Given the description of an element on the screen output the (x, y) to click on. 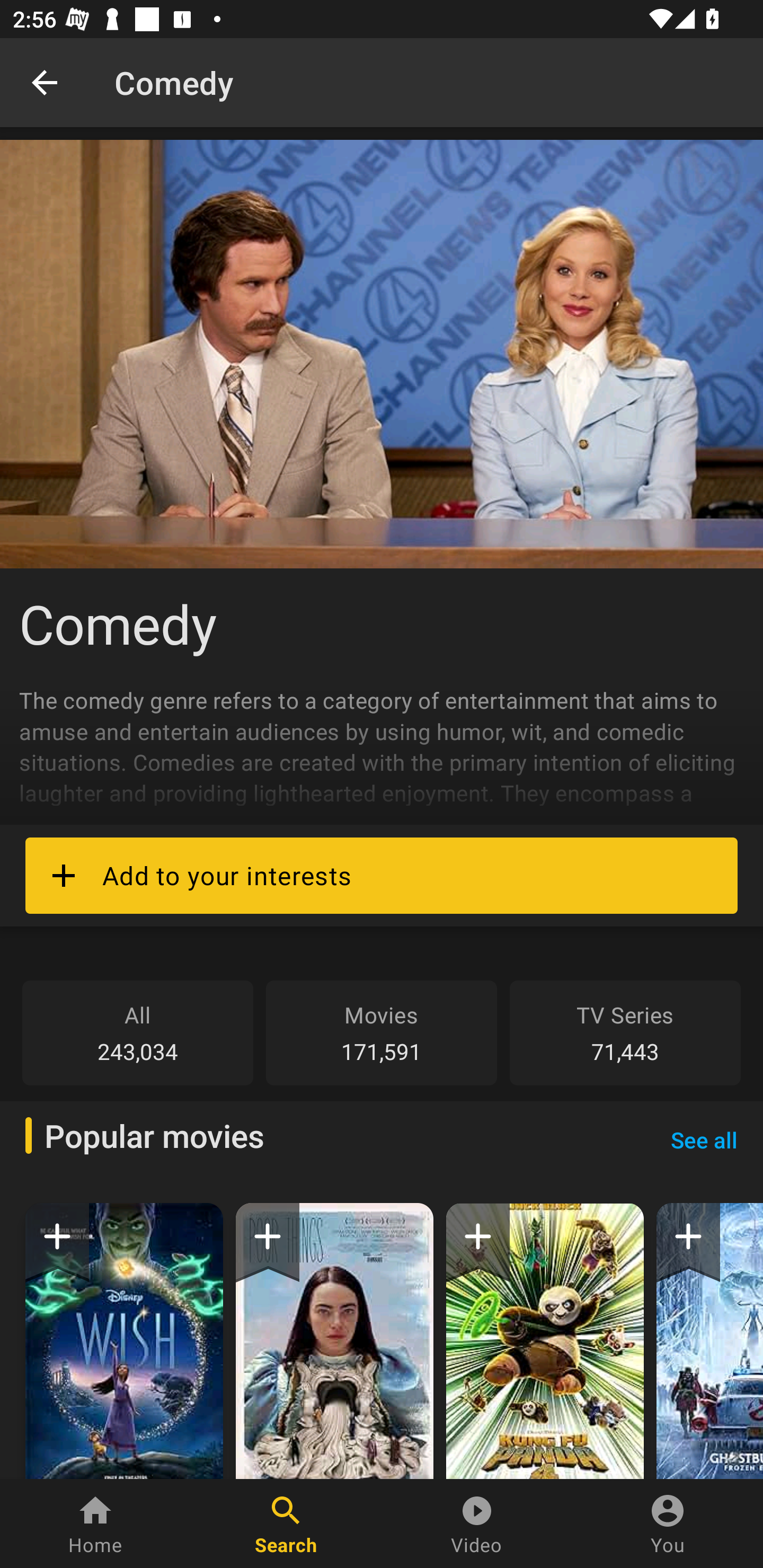
Add to your interests (381, 875)
All 243,034 (137, 1032)
Movies 171,591 (381, 1032)
TV Series 71,443 (624, 1032)
See all See all Popular movies (703, 1139)
Home (95, 1523)
Video (476, 1523)
You (667, 1523)
